Given the description of an element on the screen output the (x, y) to click on. 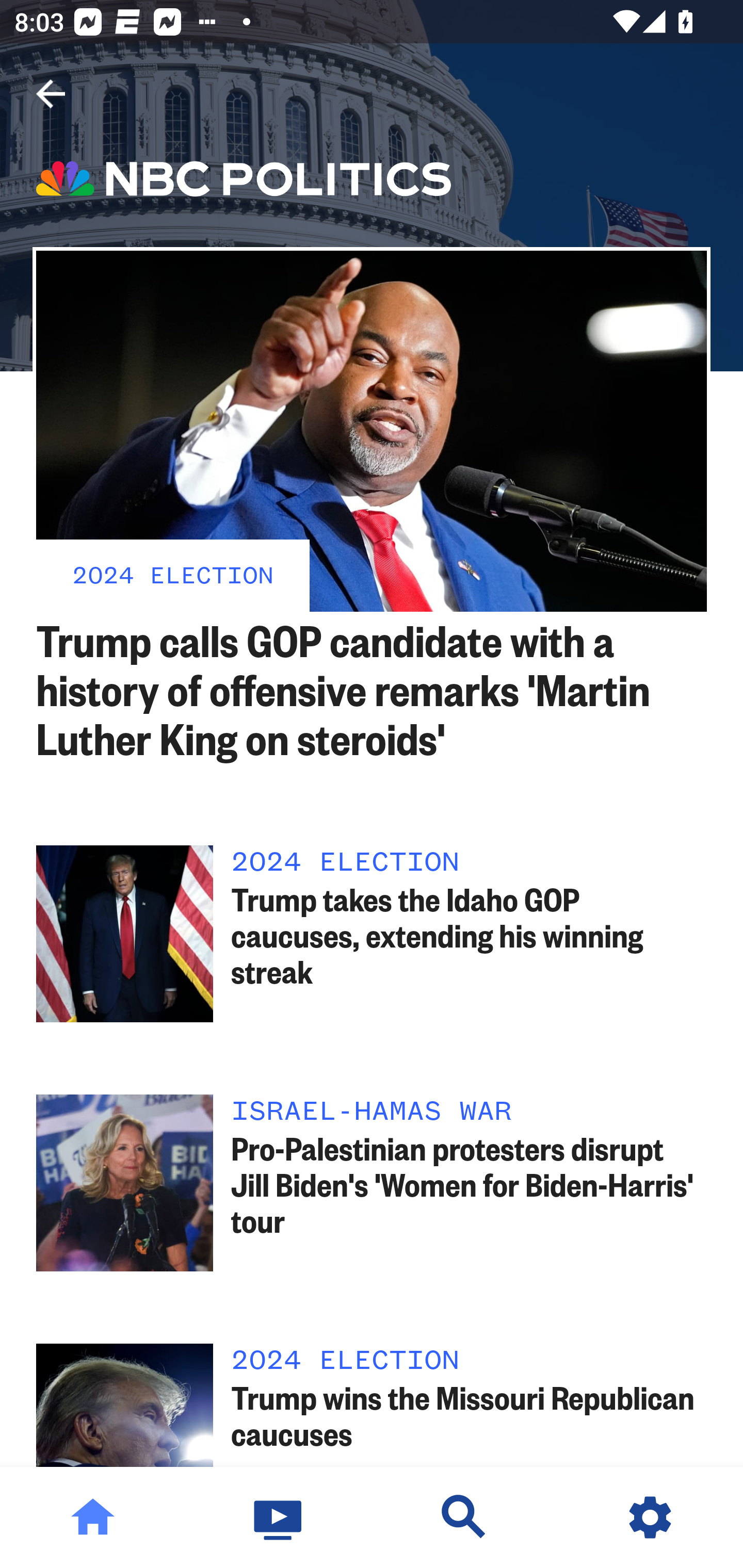
Navigate up (50, 93)
Watch (278, 1517)
Discover (464, 1517)
Settings (650, 1517)
